Given the description of an element on the screen output the (x, y) to click on. 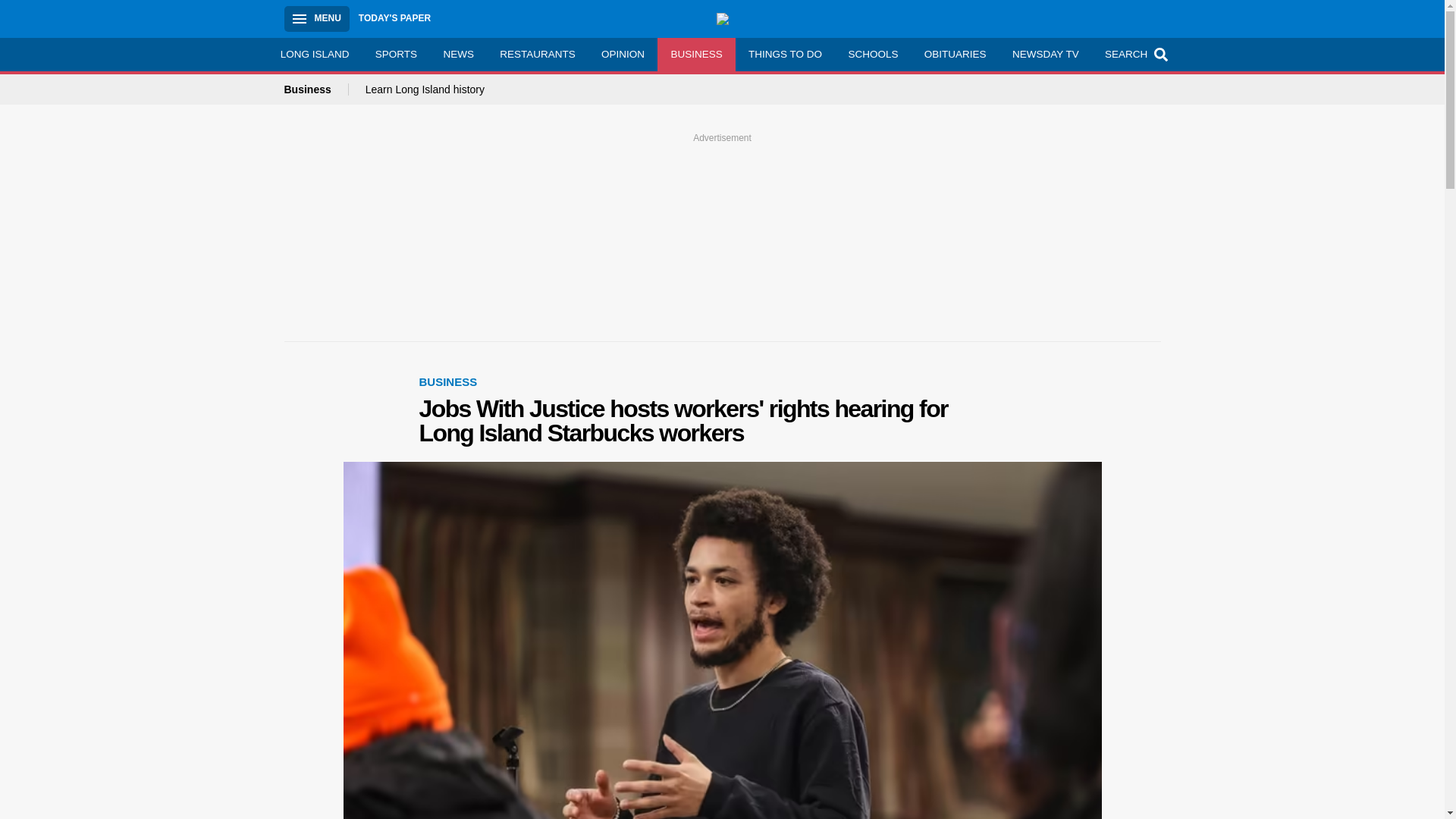
SCHOOLS (872, 54)
RESTAURANTS (537, 54)
BUSINESS (696, 54)
TODAY'S PAPER (394, 18)
LONG ISLAND (313, 54)
NEWS (457, 54)
OPINION (623, 54)
Learn Long Island history (424, 89)
OBITUARIES (954, 54)
NEWSDAY TV (1045, 54)
SPORTS (396, 54)
BUSINESS (448, 381)
MENU (316, 18)
Business (315, 89)
SEARCH (1134, 54)
